Given the description of an element on the screen output the (x, y) to click on. 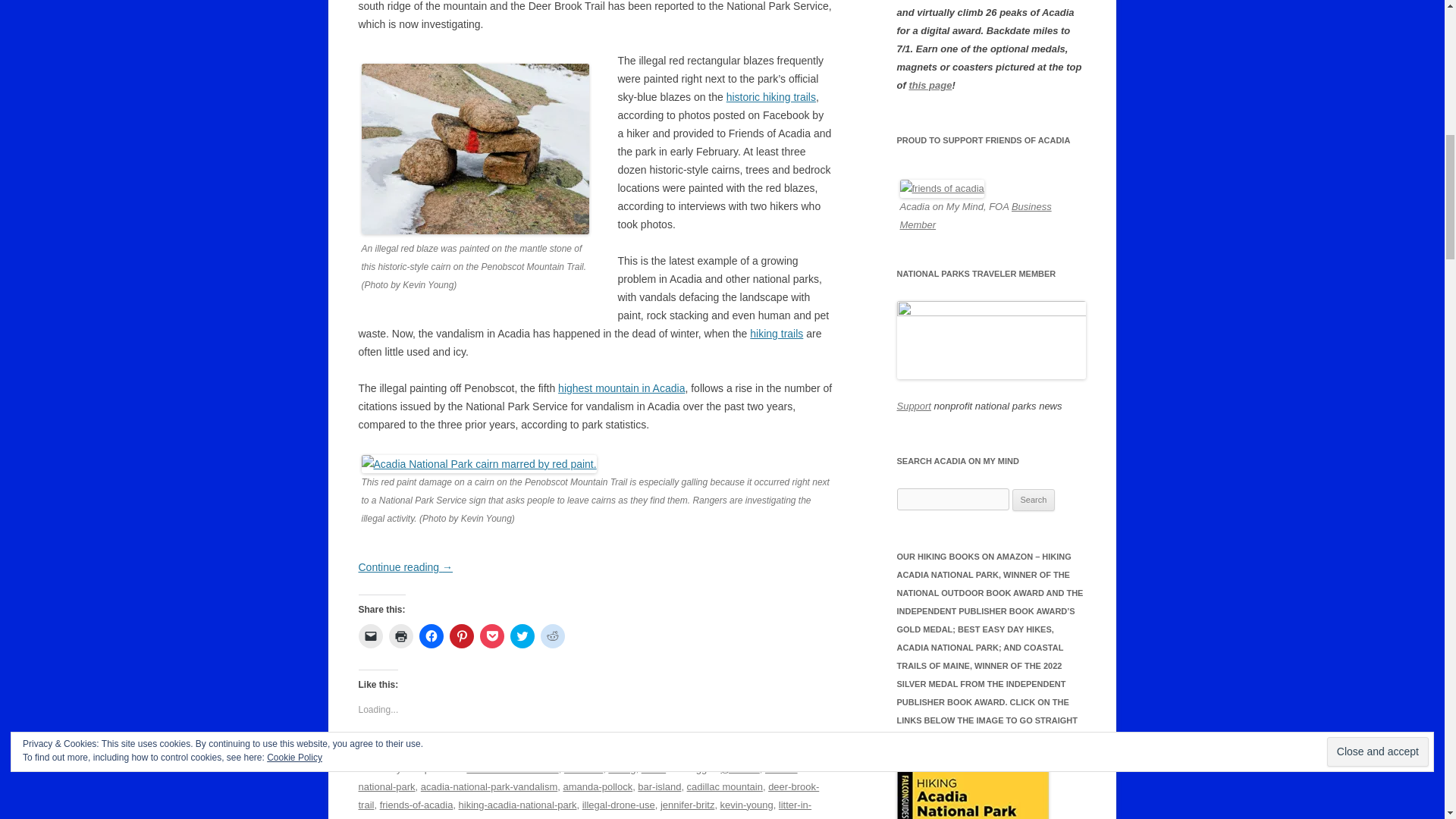
highest mountain in Acadia (620, 387)
Click to share on Reddit (552, 636)
Click to share on Pinterest (460, 636)
Click to share on Twitter (521, 636)
Search (1033, 499)
Click to share on Pocket (491, 636)
Click to share on Facebook (430, 636)
Click to email a link to a friend (369, 636)
Click to print (400, 636)
historic hiking trails (770, 96)
hiking trails (776, 333)
